Given the description of an element on the screen output the (x, y) to click on. 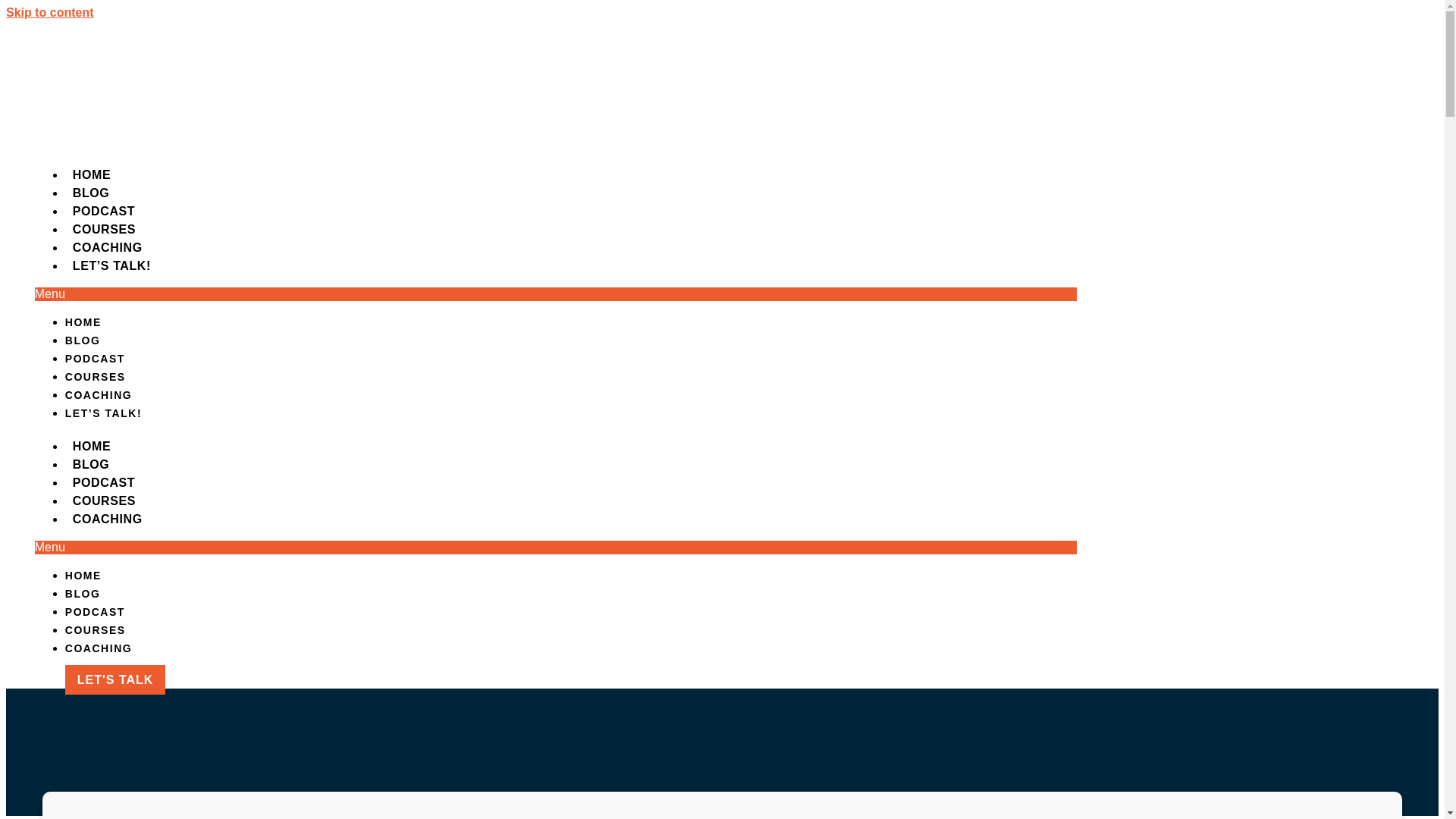
Does asking questions make you a judgmental person? (162, 548)
Dan Munro (499, 320)
HOME (841, 64)
No Comments (664, 320)
Celebrating 10 Years of Brojo! (149, 365)
COACHING (1240, 64)
Quantum Parts Courage: Definition of Bravery (169, 419)
LET'S TALK (1363, 65)
